Given the description of an element on the screen output the (x, y) to click on. 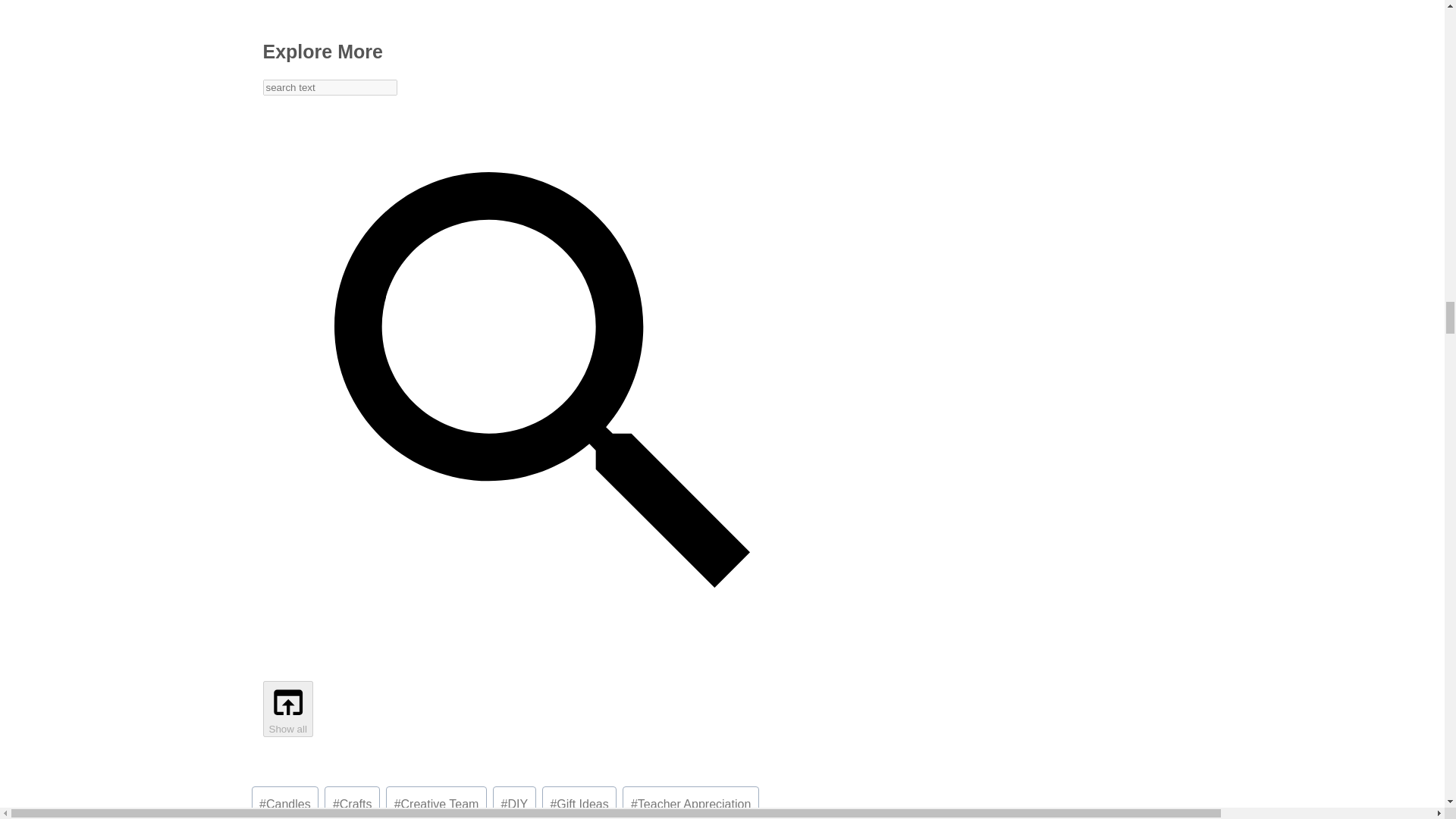
Candles (284, 802)
Crafts (352, 802)
Creative Team (435, 802)
